Given the description of an element on the screen output the (x, y) to click on. 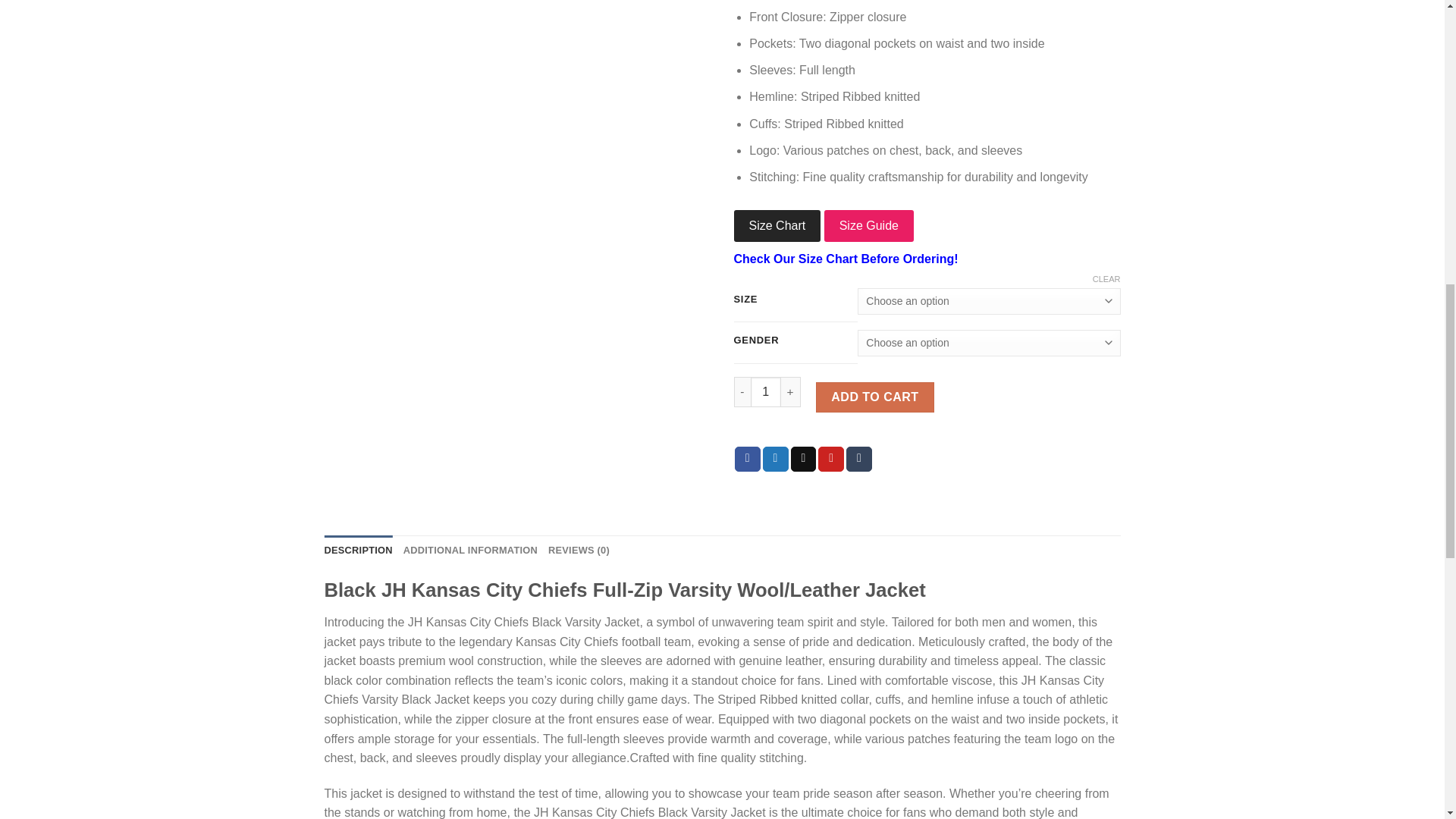
1 (765, 391)
Qty (765, 391)
